Given the description of an element on the screen output the (x, y) to click on. 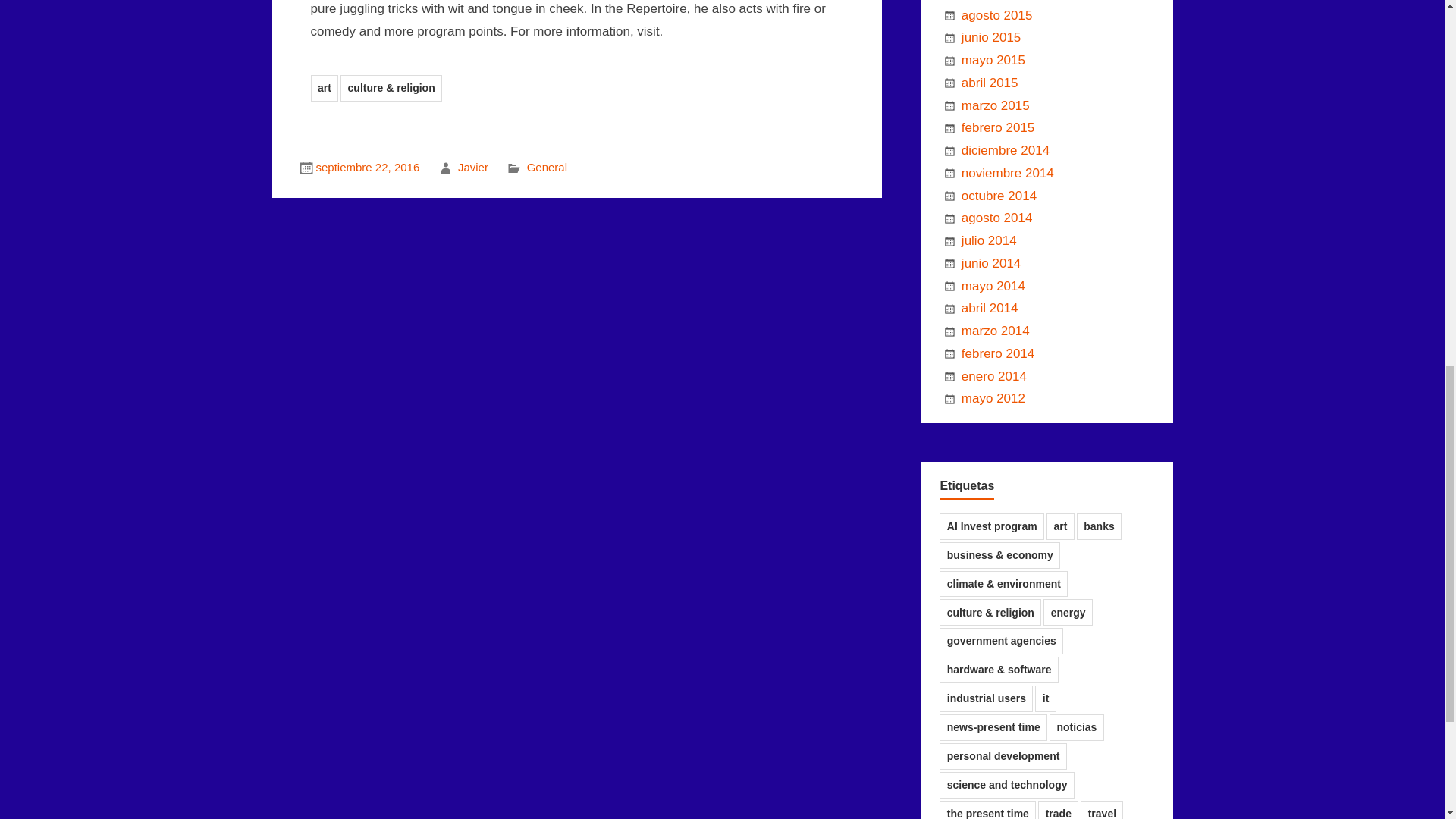
Javier (472, 166)
septiembre 22, 2016 (367, 166)
mayo 2015 (992, 60)
febrero 2015 (996, 127)
marzo 2015 (994, 105)
art (325, 88)
agosto 2015 (996, 15)
6:48 pm (367, 166)
junio 2015 (990, 37)
View all posts by Javier (472, 166)
abril 2015 (988, 83)
General (547, 166)
